Given the description of an element on the screen output the (x, y) to click on. 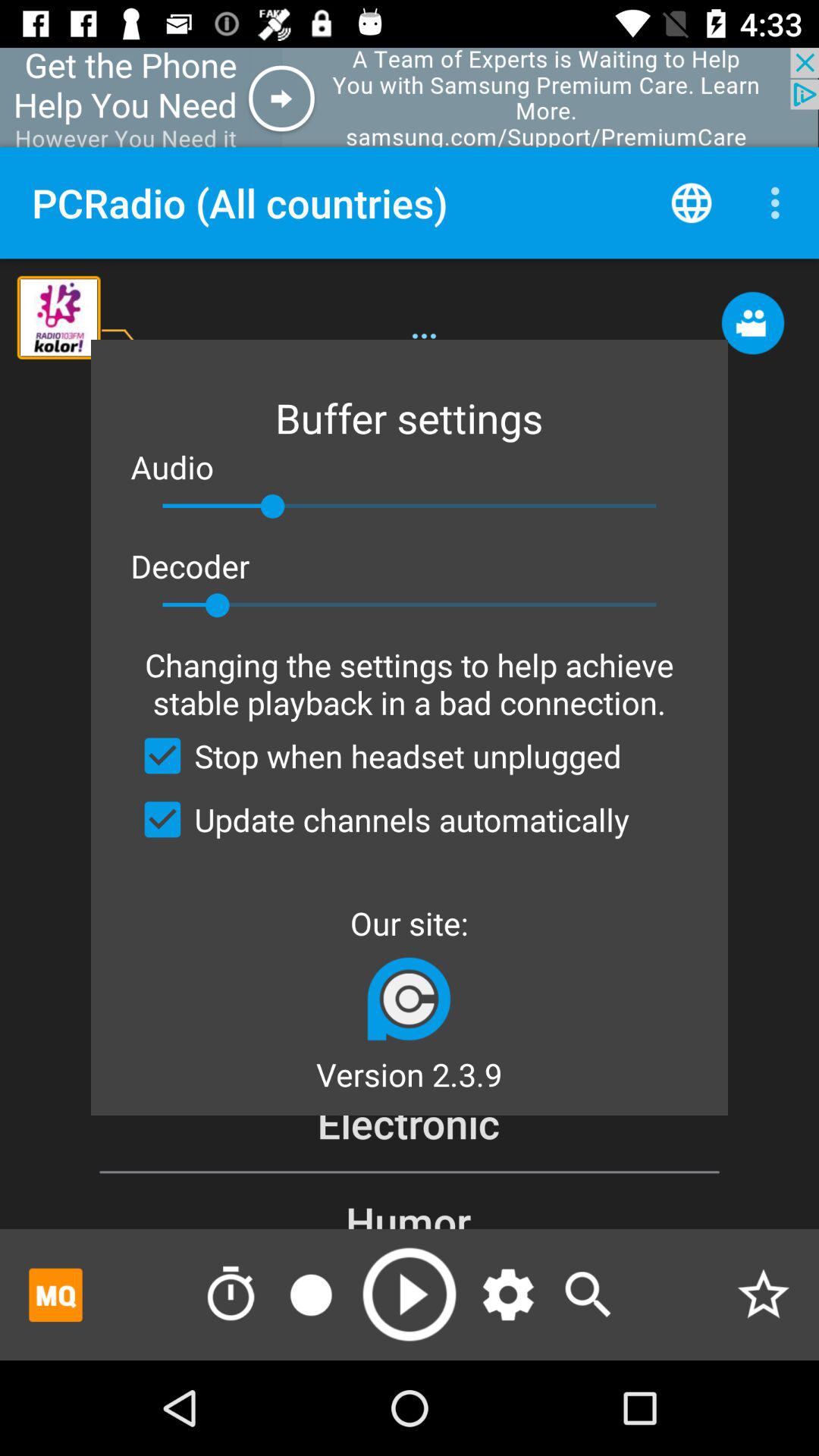
visit the website in question (408, 998)
